Given the description of an element on the screen output the (x, y) to click on. 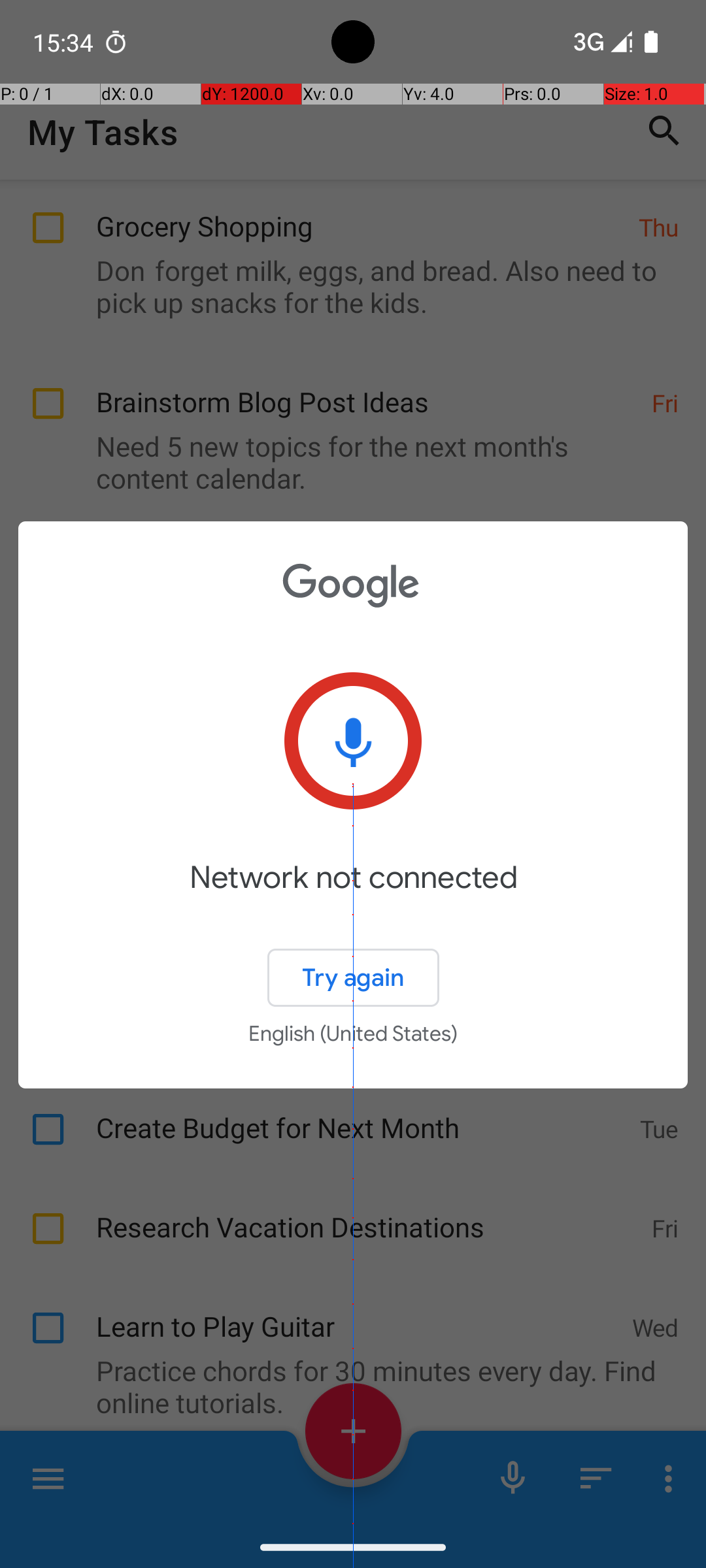
Network not connected Element type: android.widget.TextView (352, 895)
